Given the description of an element on the screen output the (x, y) to click on. 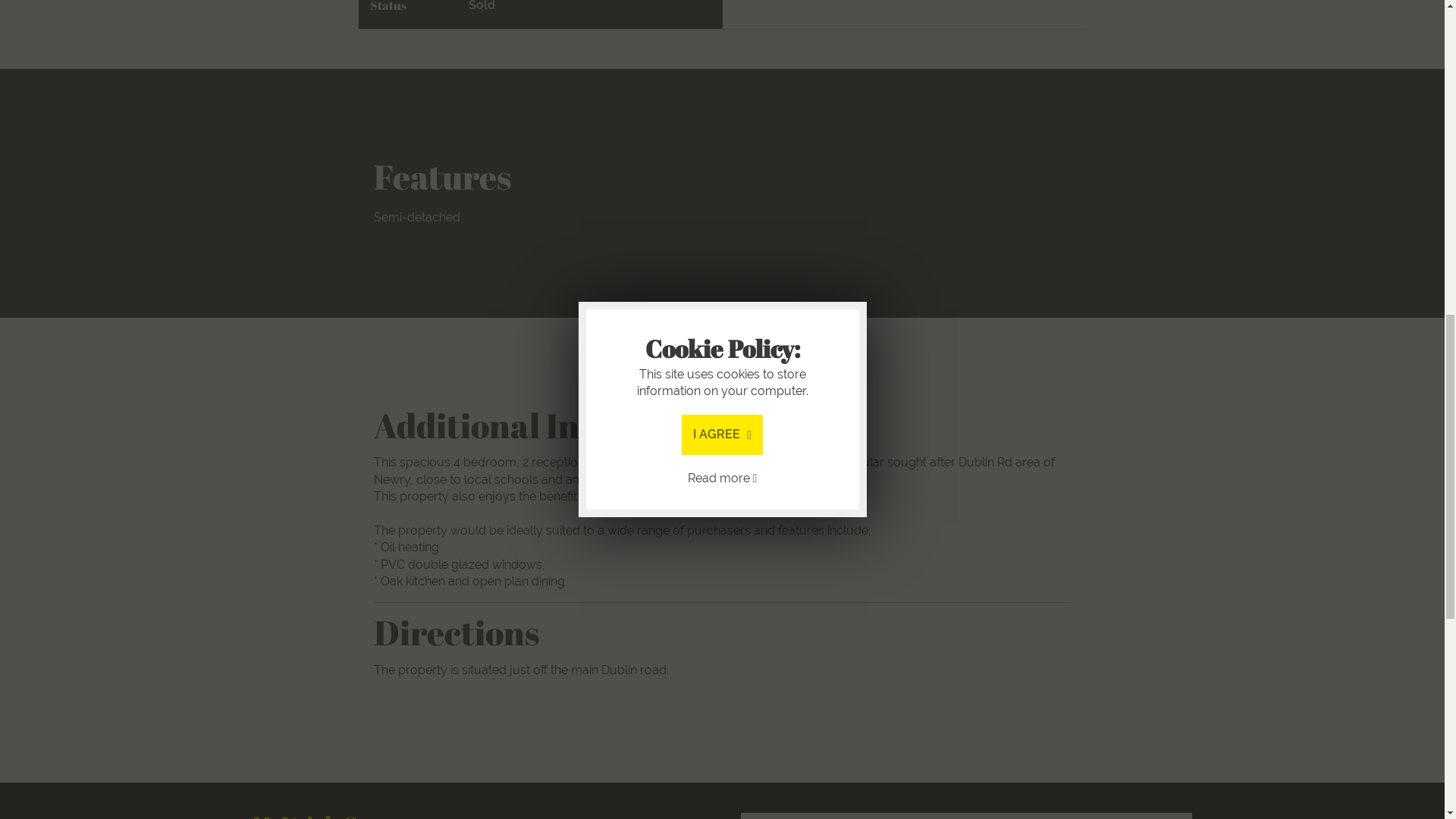
Weather Widget (966, 816)
